Given the description of an element on the screen output the (x, y) to click on. 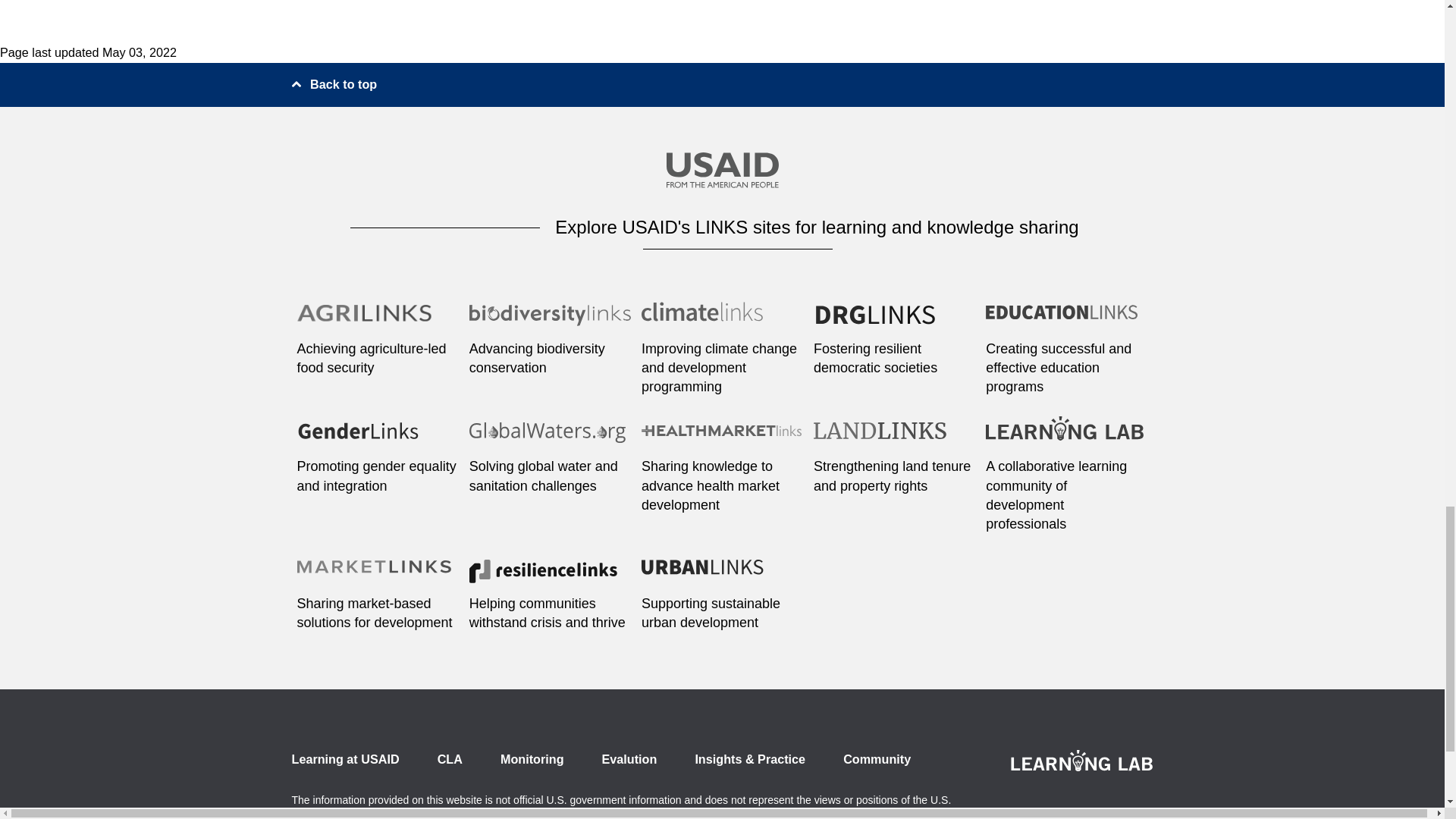
Go to USAID (721, 173)
Go to Landlinks (894, 439)
Back to top (334, 83)
Go to Biodiversitylinks (549, 321)
Go to HealthMarketLinks (722, 439)
Go to LearningLab (1066, 439)
Go to DRG (894, 321)
Go to Globalwaters (549, 439)
Go to Educationlinks (1066, 321)
Go to Agrilinks (377, 321)
